Given the description of an element on the screen output the (x, y) to click on. 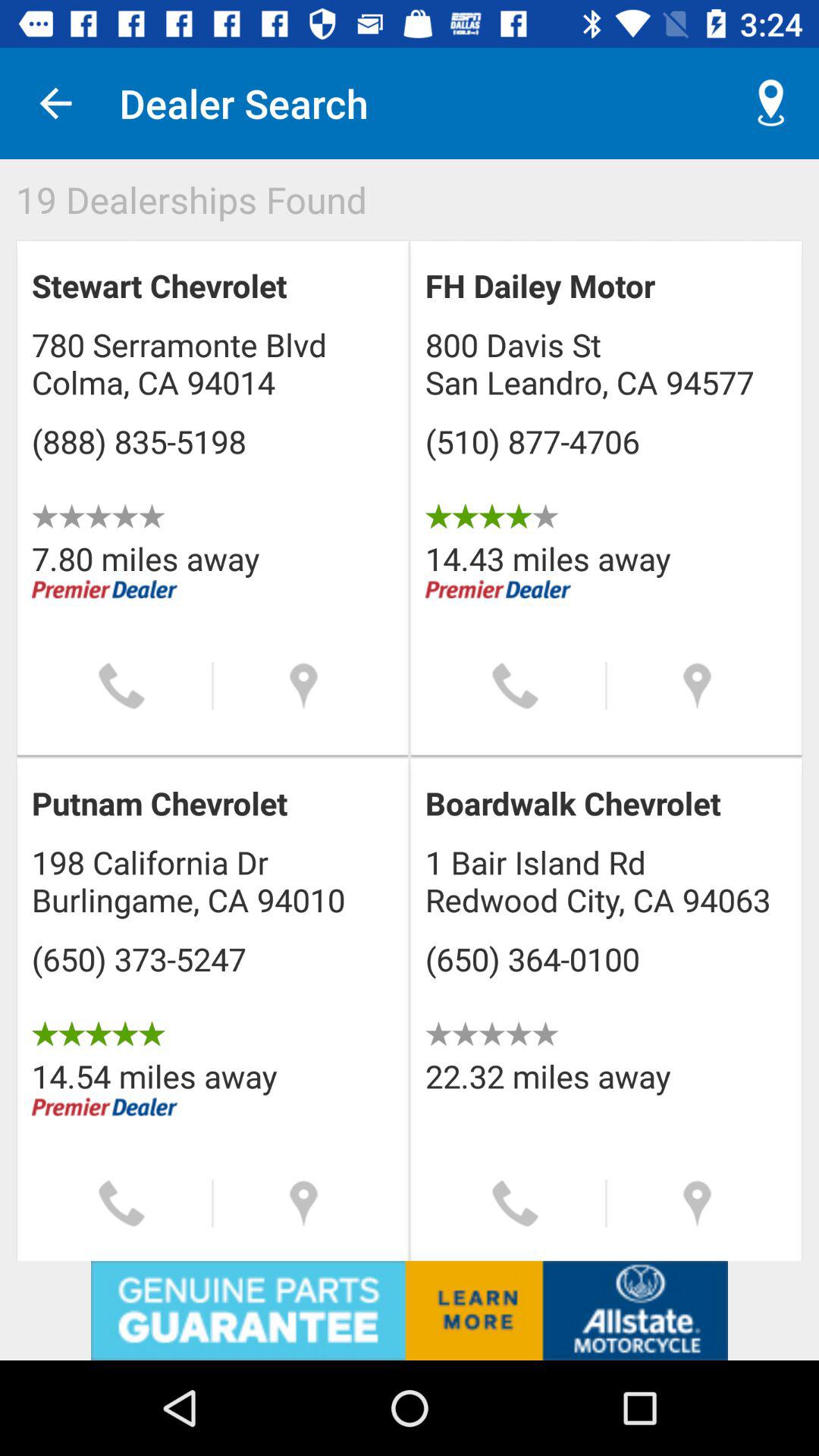
call store (121, 1203)
